Given the description of an element on the screen output the (x, y) to click on. 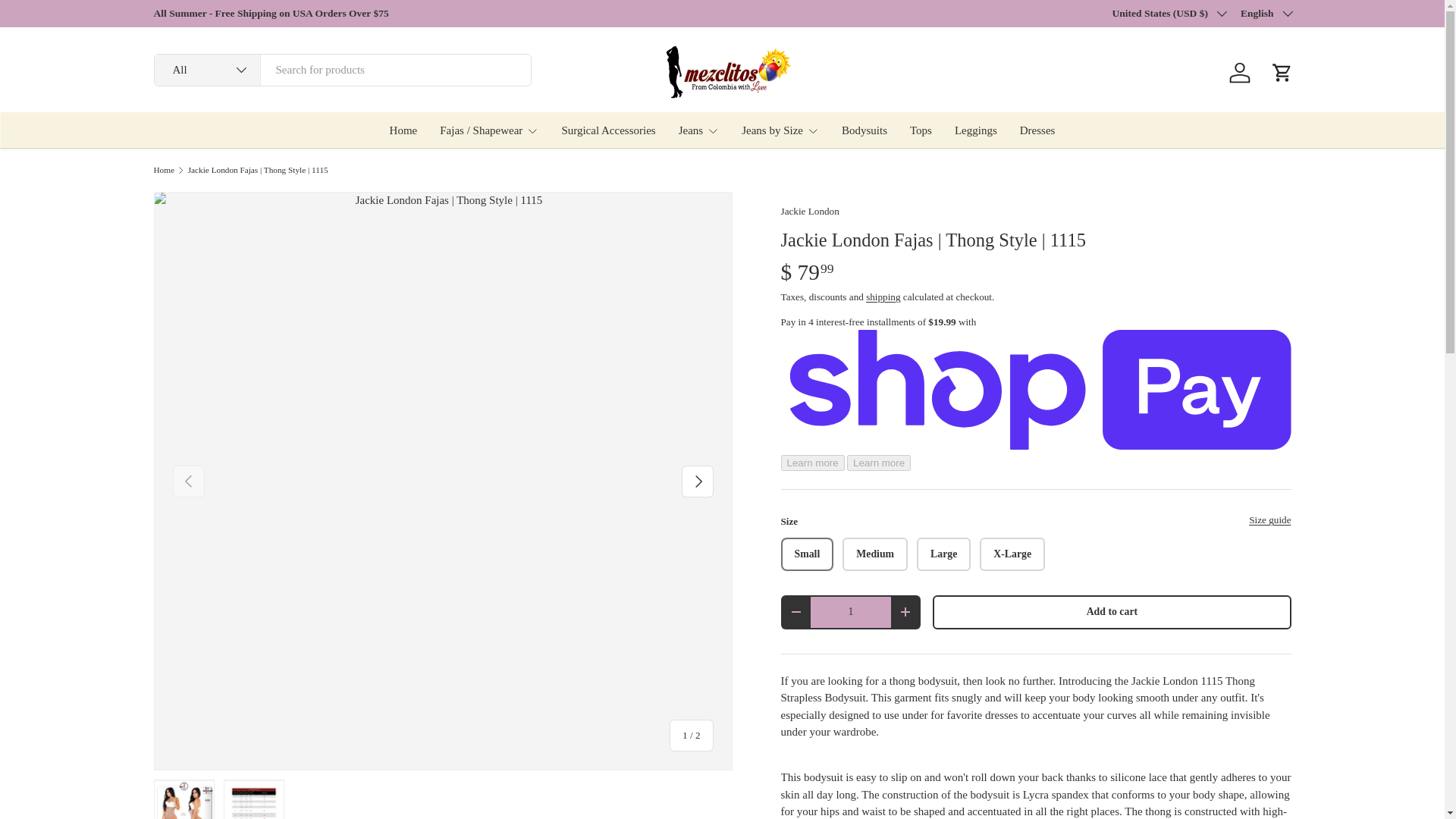
Skip to content (66, 21)
Cart (1281, 72)
Log in (1239, 72)
Jeans (698, 130)
All (207, 69)
1 (850, 612)
English (1265, 13)
Surgical Accessories (607, 130)
Jeans by Size (779, 130)
